Given the description of an element on the screen output the (x, y) to click on. 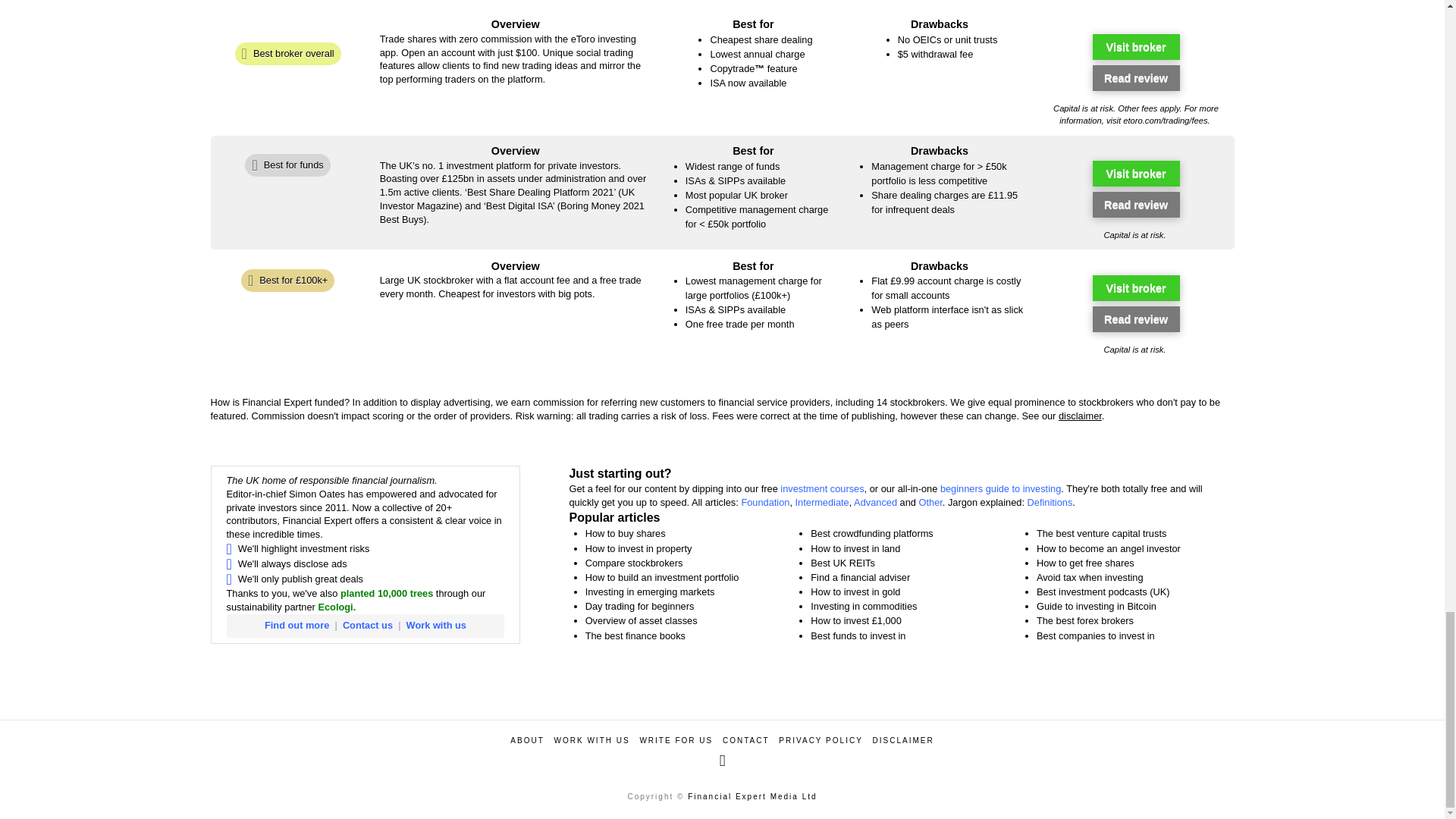
Facebook (722, 760)
